Given the description of an element on the screen output the (x, y) to click on. 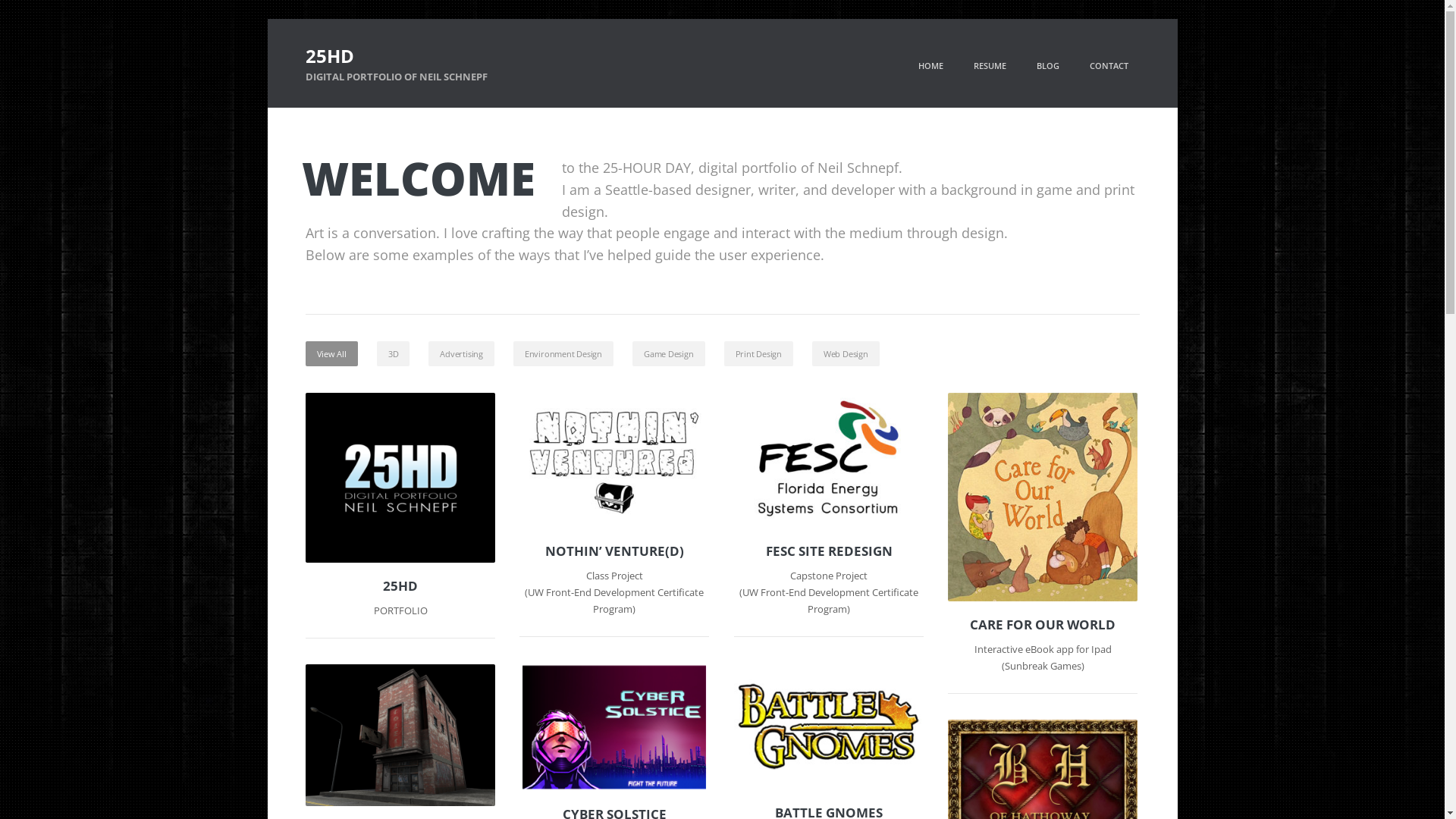
FESC SITE REDESIGN Element type: text (828, 550)
View All Element type: text (330, 353)
Advertising Element type: text (461, 353)
Web Design Element type: text (845, 353)
HOME Element type: text (930, 65)
Print Design Element type: text (758, 353)
Game Design Element type: text (668, 353)
CARE FOR OUR WORLD Element type: text (1042, 624)
RESUME Element type: text (988, 65)
3D Element type: text (393, 353)
25HD Element type: text (400, 585)
Environment Design Element type: text (563, 353)
25HD Element type: text (395, 56)
CONTACT Element type: text (1108, 65)
BLOG Element type: text (1047, 65)
